Given the description of an element on the screen output the (x, y) to click on. 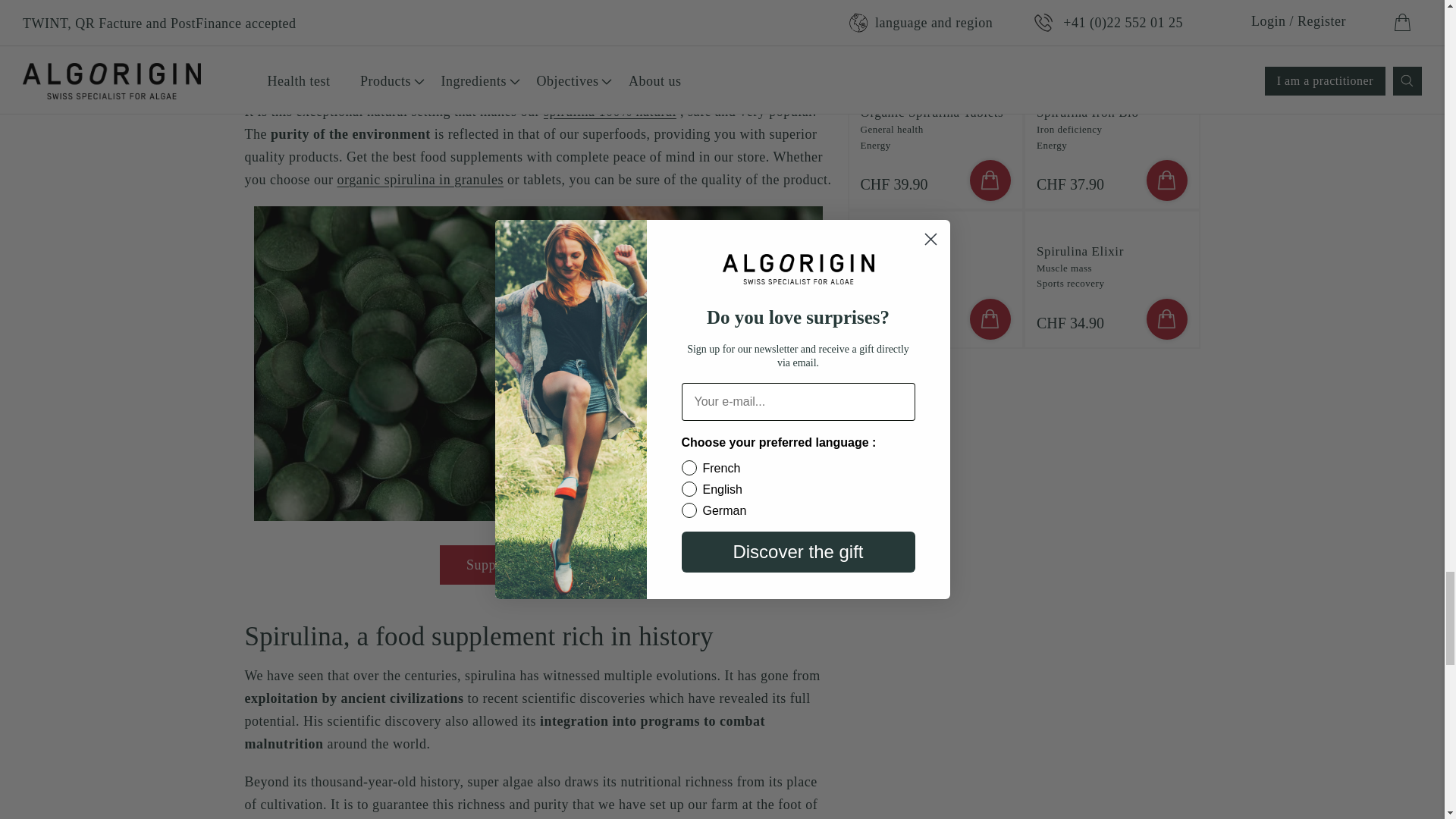
organic spirulina in granules (419, 179)
